Given the description of an element on the screen output the (x, y) to click on. 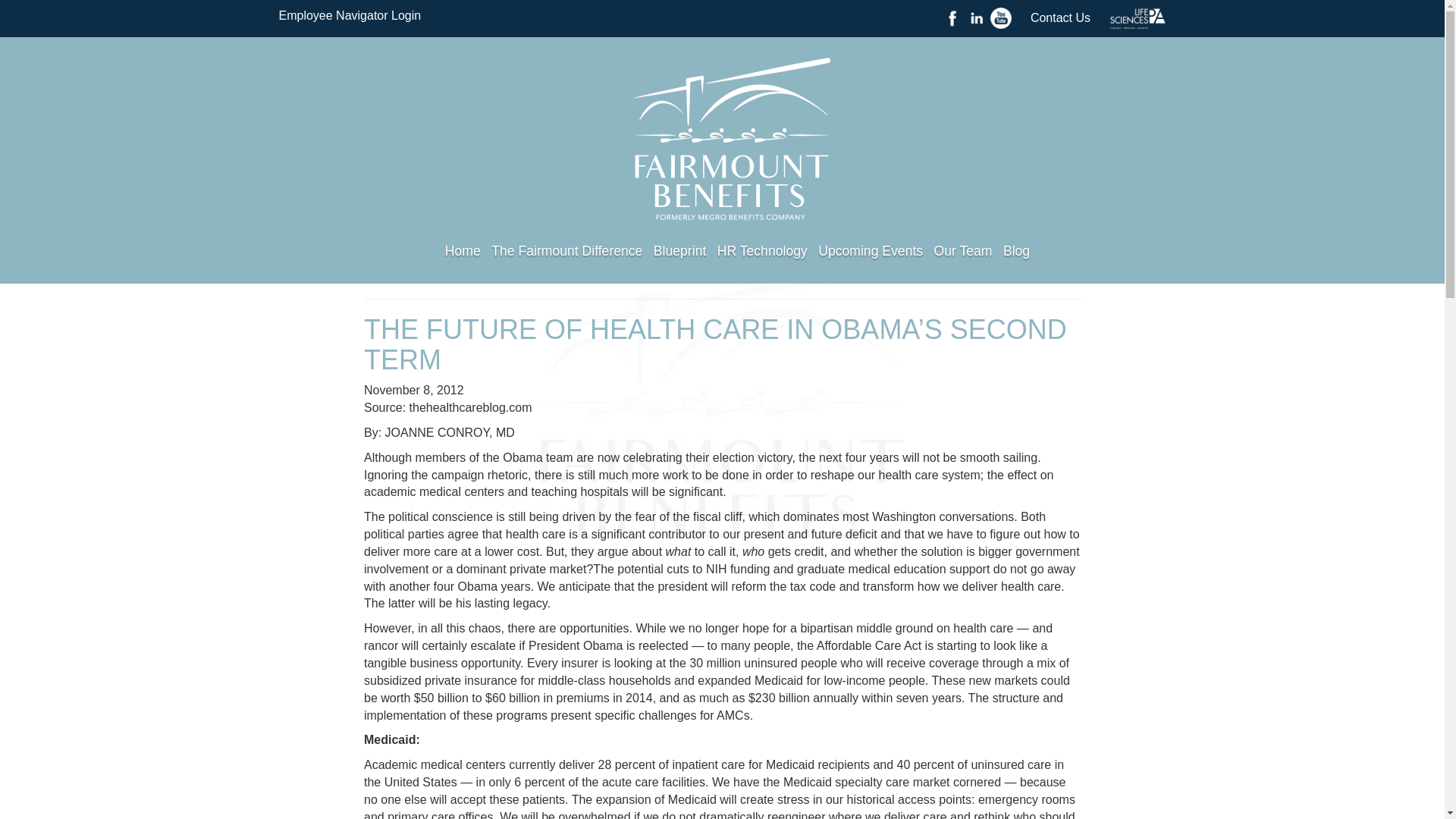
Upcoming Events (870, 250)
Employee Navigator Login (350, 15)
The Fairmount Difference (567, 250)
Our Team (963, 250)
HR Technology (762, 250)
Blog (1016, 250)
Home (462, 250)
Blueprint (679, 250)
Contact Us (1060, 17)
